Given the description of an element on the screen output the (x, y) to click on. 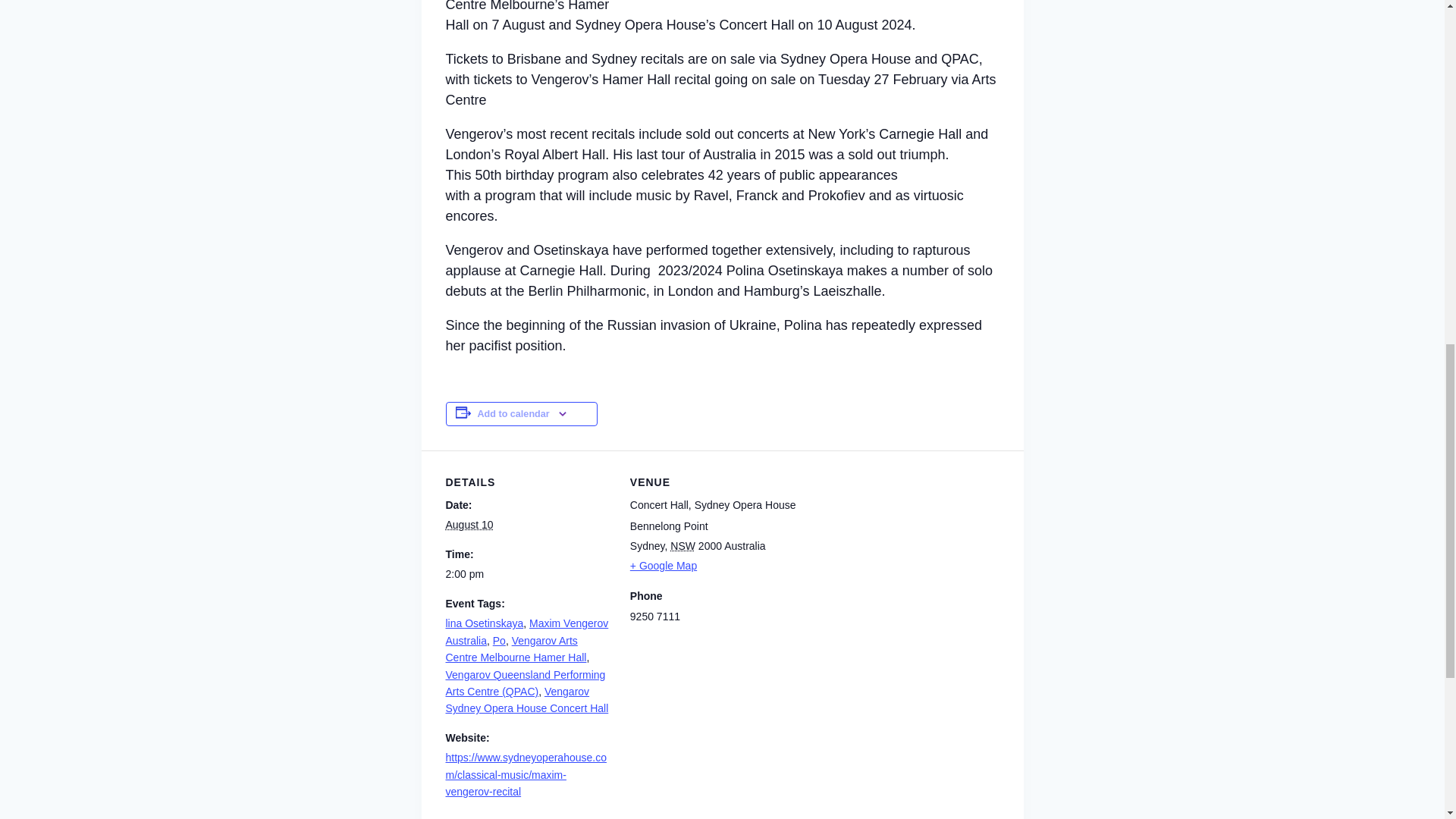
Click to view a Google Map (713, 565)
Vengarov Arts Centre Melbourne Hamer Hall (515, 648)
NSW (682, 545)
2024-08-10 (469, 524)
Maxim Vengerov Australia (526, 631)
Po (499, 640)
Add to calendar (513, 413)
2024-08-10 (528, 573)
lina Osetinskaya (484, 623)
Vengarov Sydney Opera House Concert Hall (526, 699)
